Given the description of an element on the screen output the (x, y) to click on. 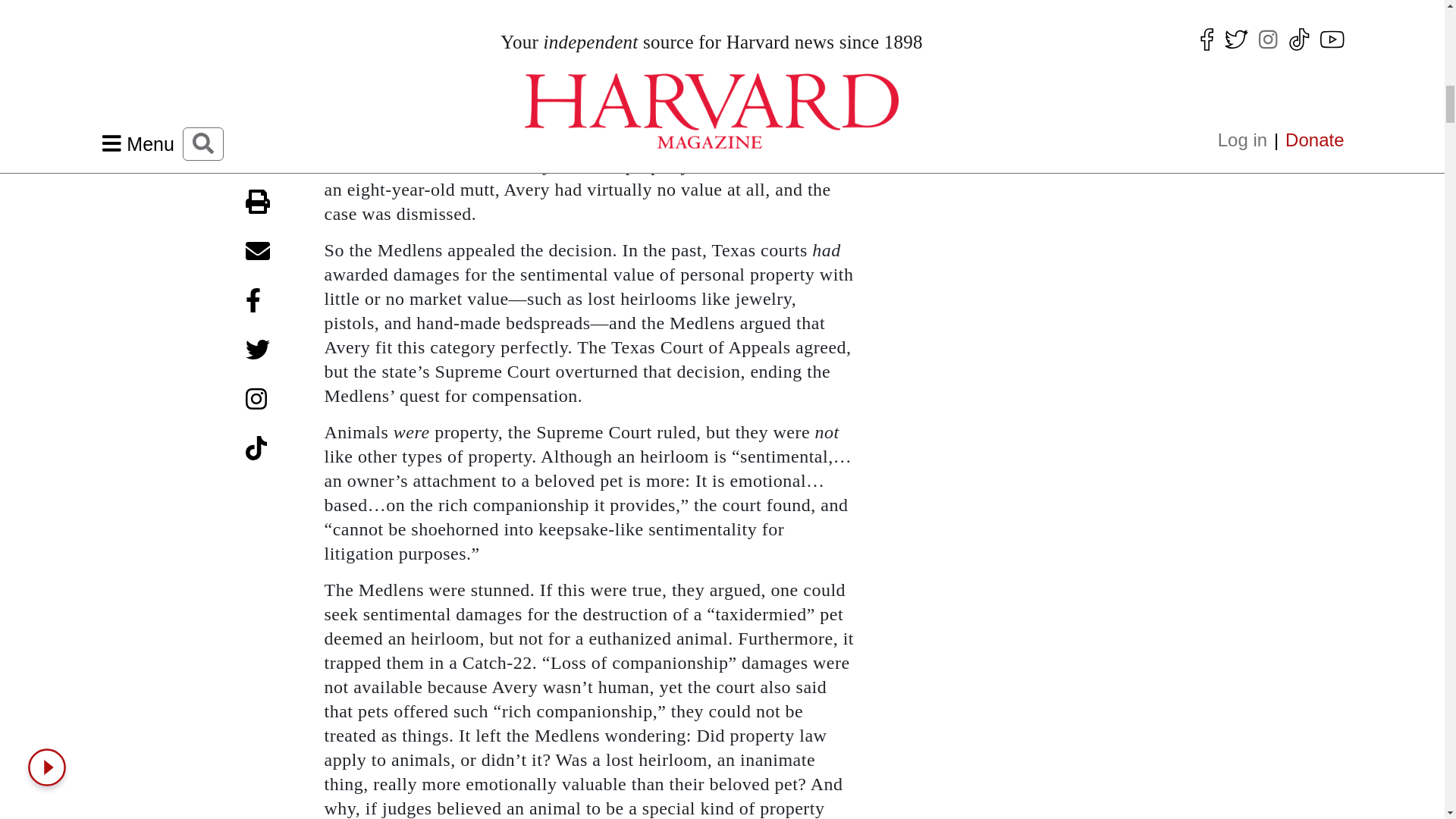
Relive the splendor of summer at the Charles Hotel. (1003, 54)
